Given the description of an element on the screen output the (x, y) to click on. 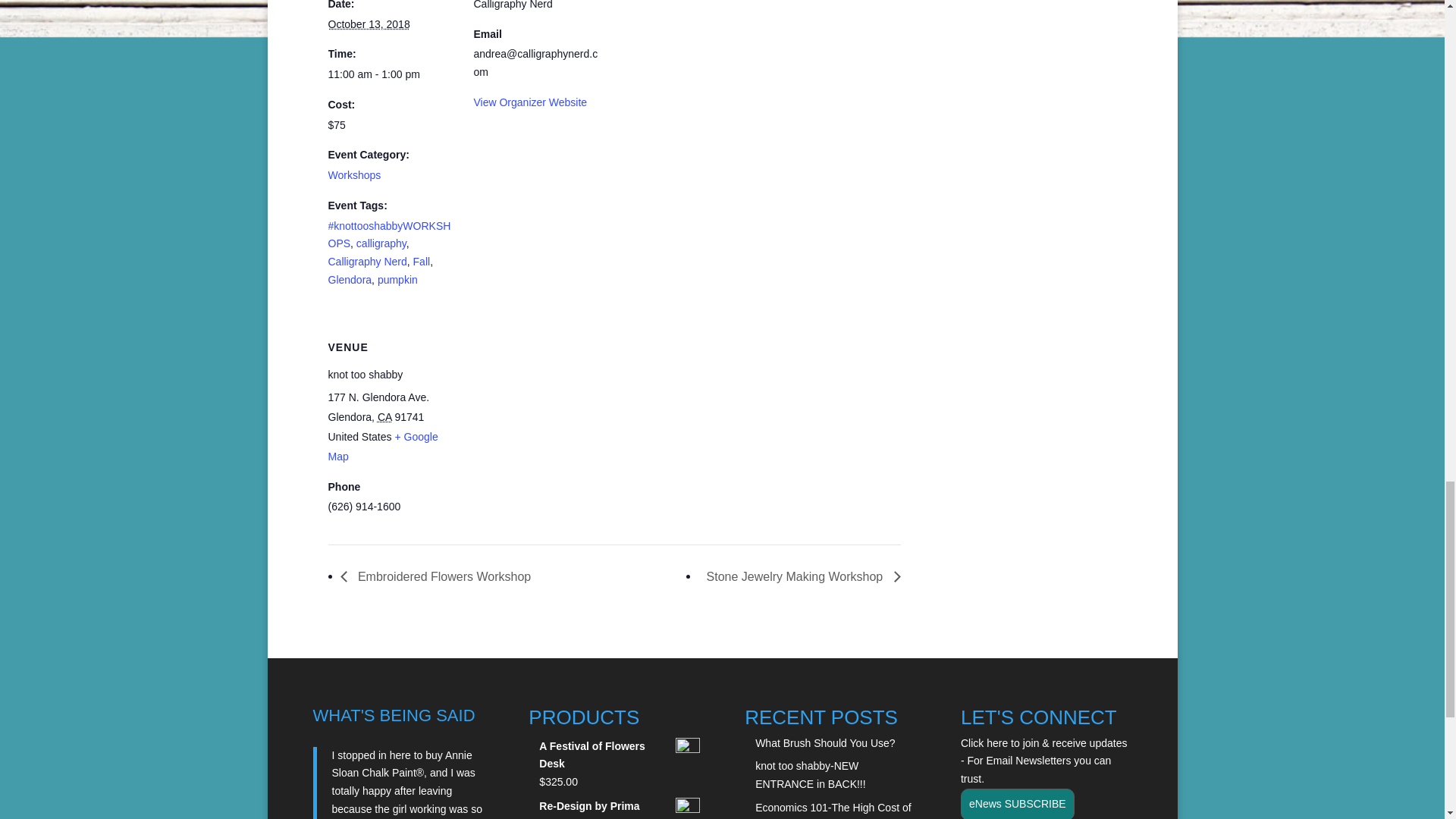
2018-10-13 (390, 75)
California (384, 417)
2018-10-13 (368, 24)
Click to view a Google Map (382, 446)
